Given the description of an element on the screen output the (x, y) to click on. 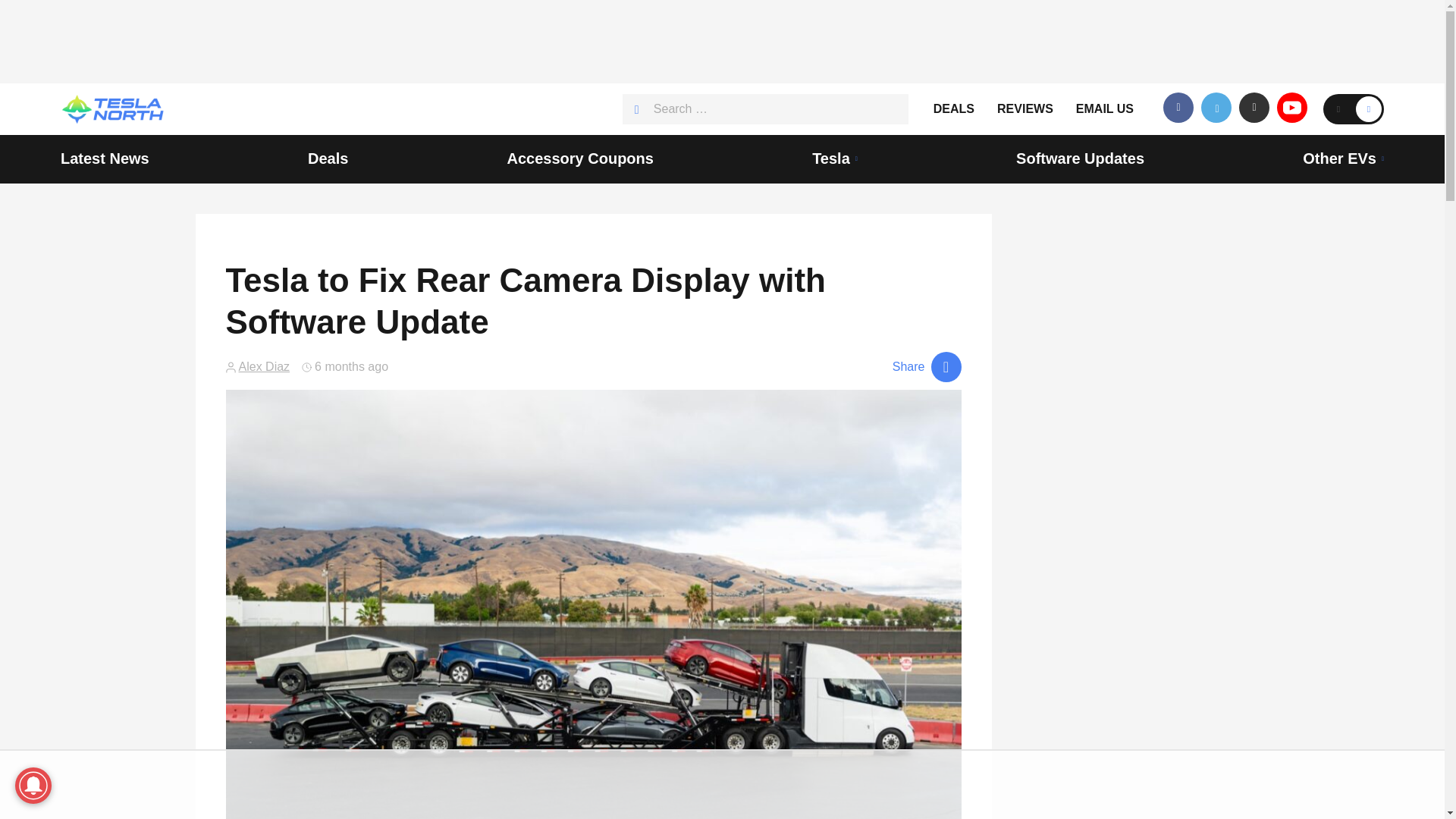
DEALS (953, 108)
REVIEWS (1024, 108)
Accessory Coupons (579, 159)
Search for: (765, 109)
EMAIL US (1104, 108)
Latest News (105, 159)
Software Updates (1080, 159)
